Given the description of an element on the screen output the (x, y) to click on. 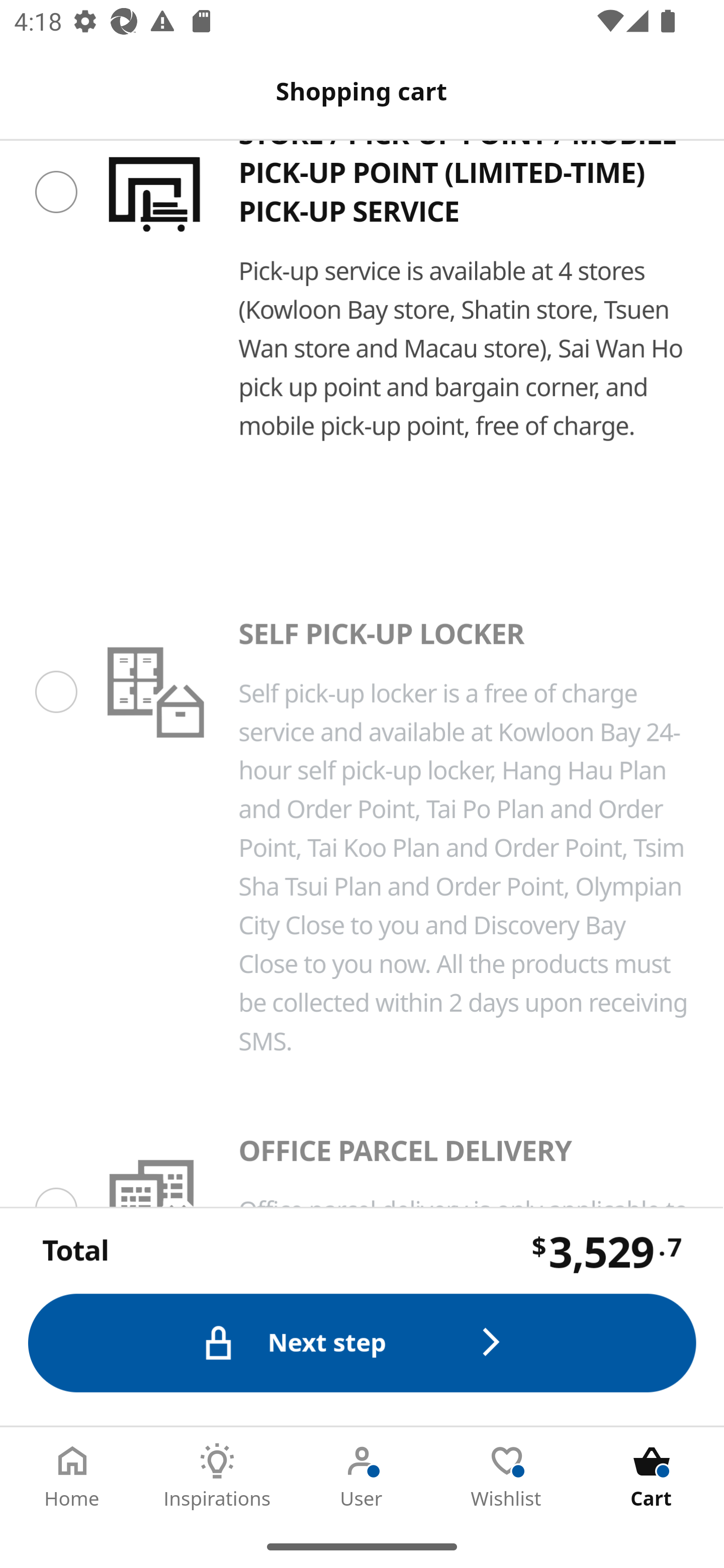
Home
Tab 1 of 5 (72, 1476)
Inspirations
Tab 2 of 5 (216, 1476)
User
Tab 3 of 5 (361, 1476)
Wishlist
Tab 4 of 5 (506, 1476)
Cart
Tab 5 of 5 (651, 1476)
